Given the description of an element on the screen output the (x, y) to click on. 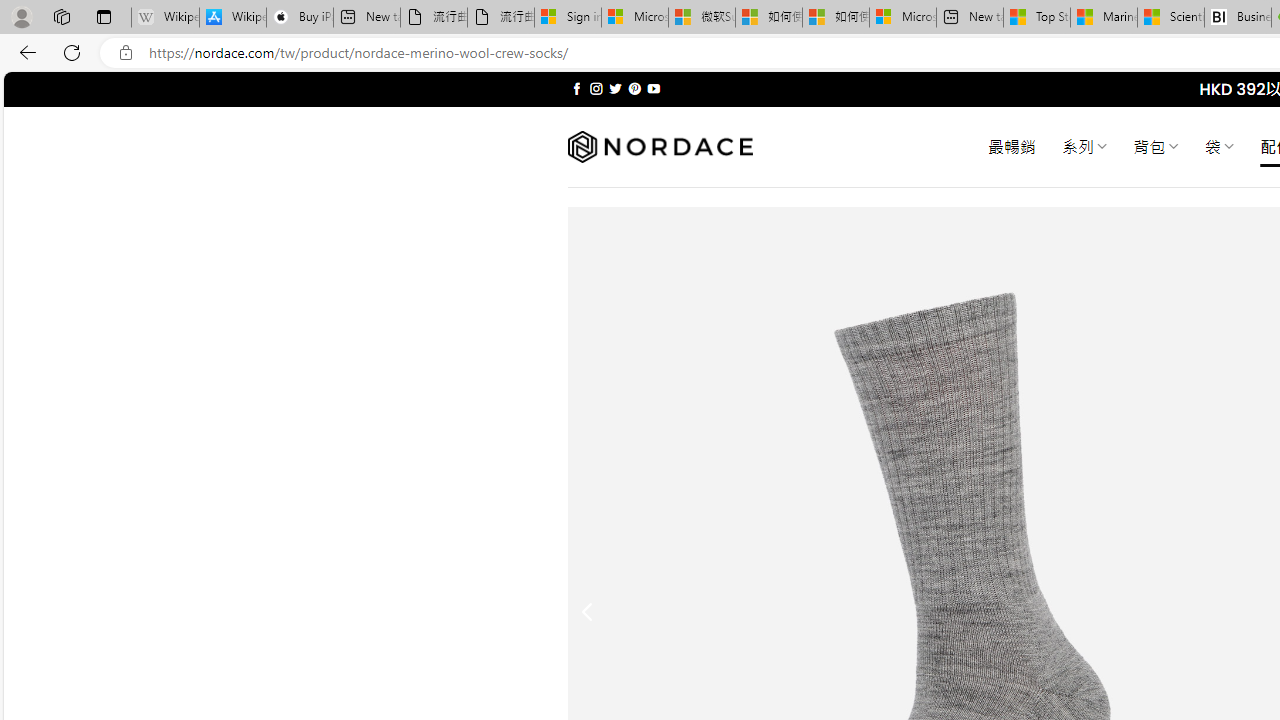
Follow on Facebook (576, 88)
Marine life - MSN (1103, 17)
Top Stories - MSN (1036, 17)
Buy iPad - Apple (299, 17)
Follow on Pinterest (634, 88)
